Given the description of an element on the screen output the (x, y) to click on. 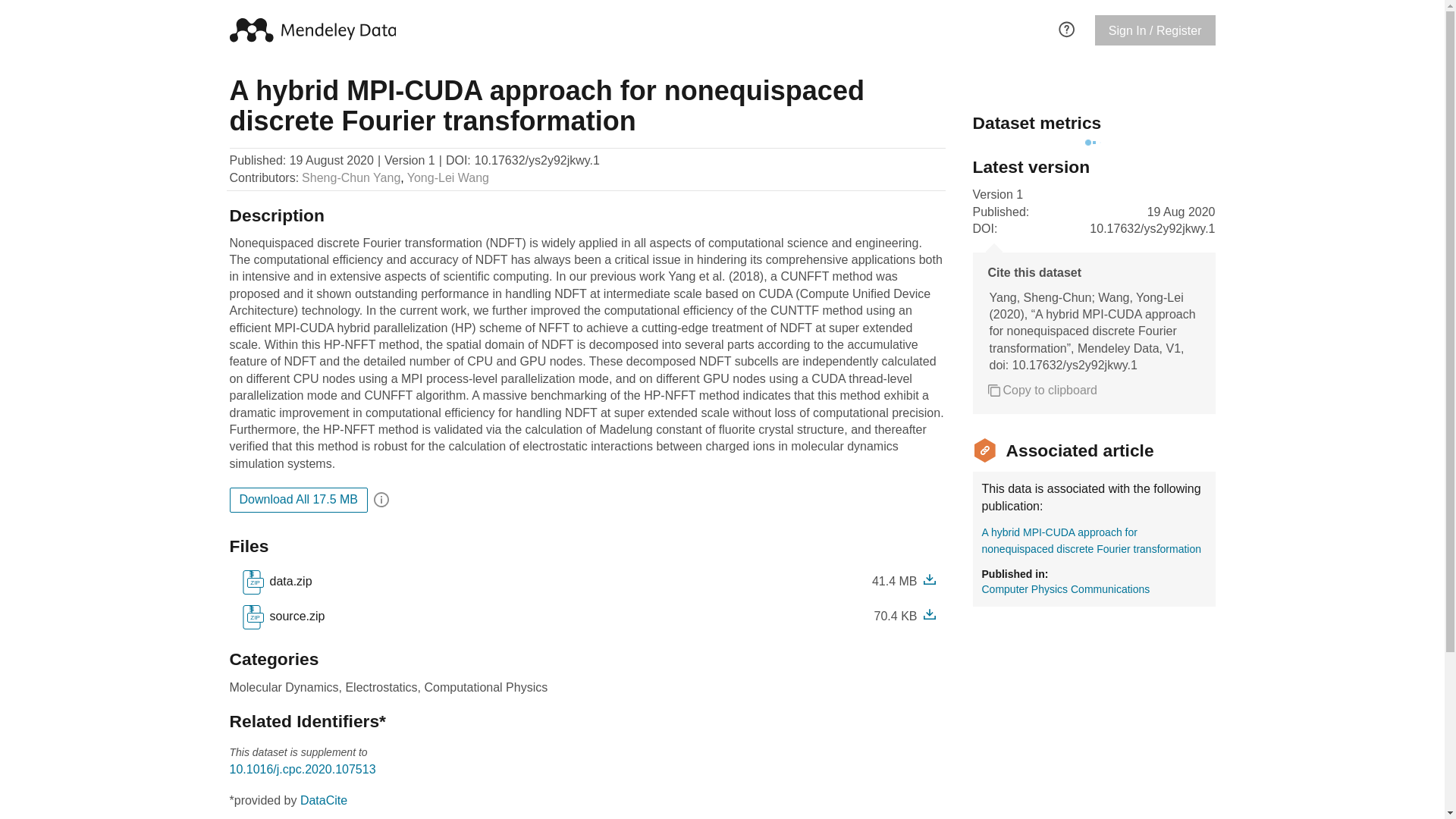
source.zip (293, 616)
DataCite (323, 799)
Sheng-Chun Yang (350, 177)
Computer Physics Communications (1065, 589)
Copy to clipboard (1042, 390)
Yong-Lei Wang (448, 177)
data.zip (282, 617)
Download All 17.5 MB (288, 581)
FAQ (276, 582)
